Given the description of an element on the screen output the (x, y) to click on. 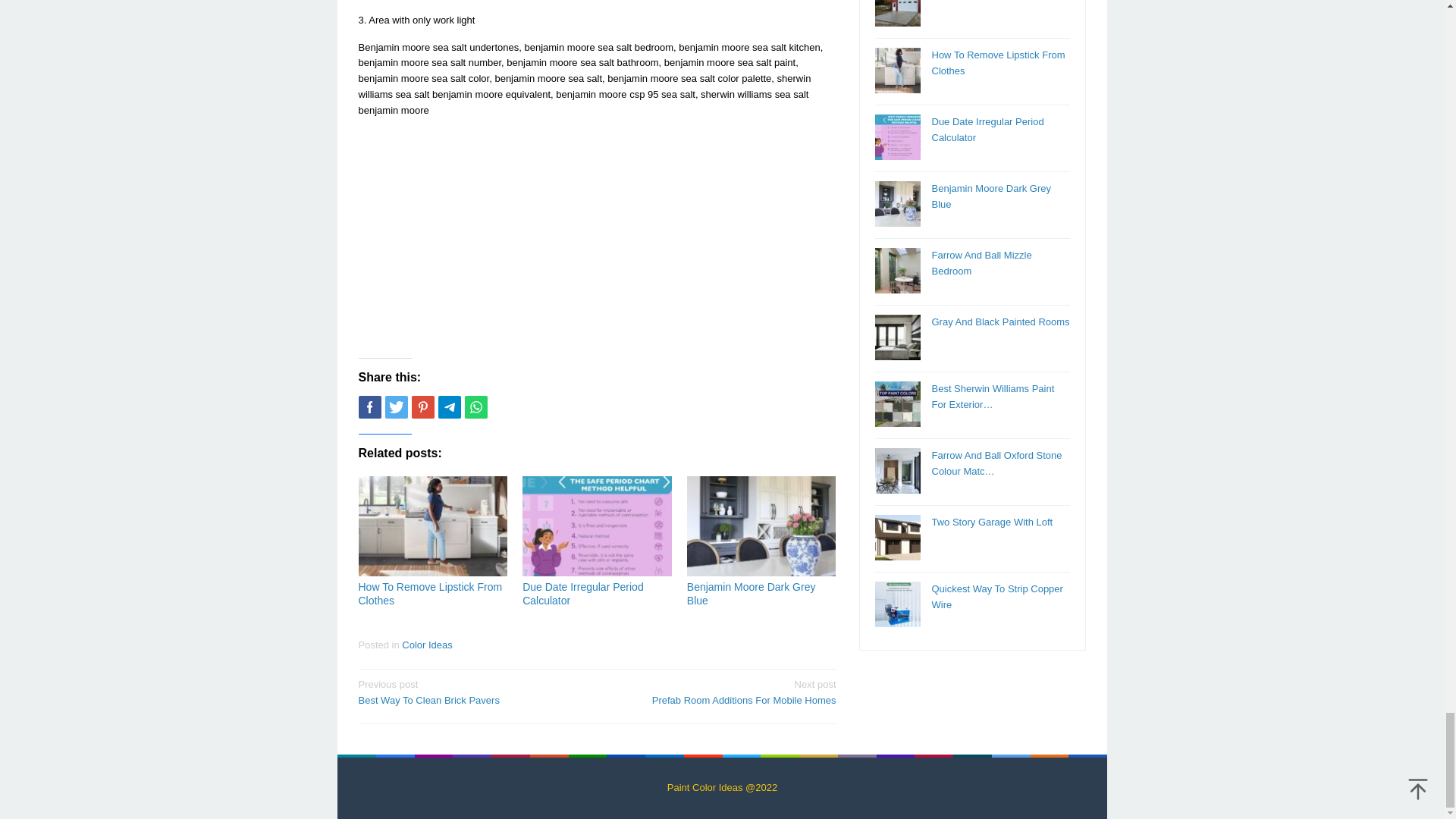
Due Date Irregular Period Calculator (721, 691)
How To Remove Lipstick From Clothes (472, 691)
Color Ideas (582, 593)
Benjamin Moore Dark Grey Blue (430, 593)
